Given the description of an element on the screen output the (x, y) to click on. 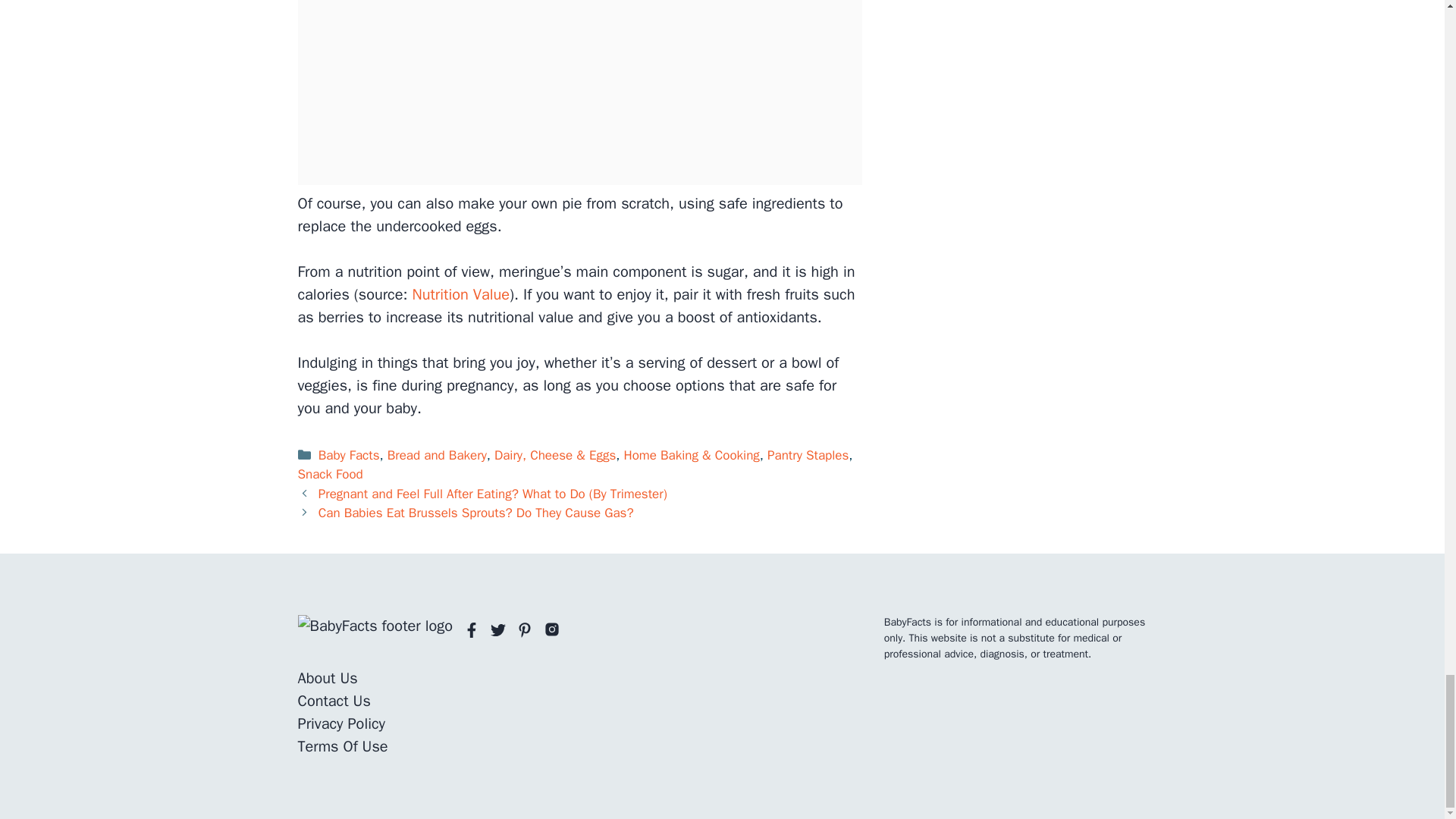
Baby Facts (349, 455)
Nutrition Value (460, 294)
Bread and Bakery (436, 455)
BabyFacts footer logo (374, 626)
